Given the description of an element on the screen output the (x, y) to click on. 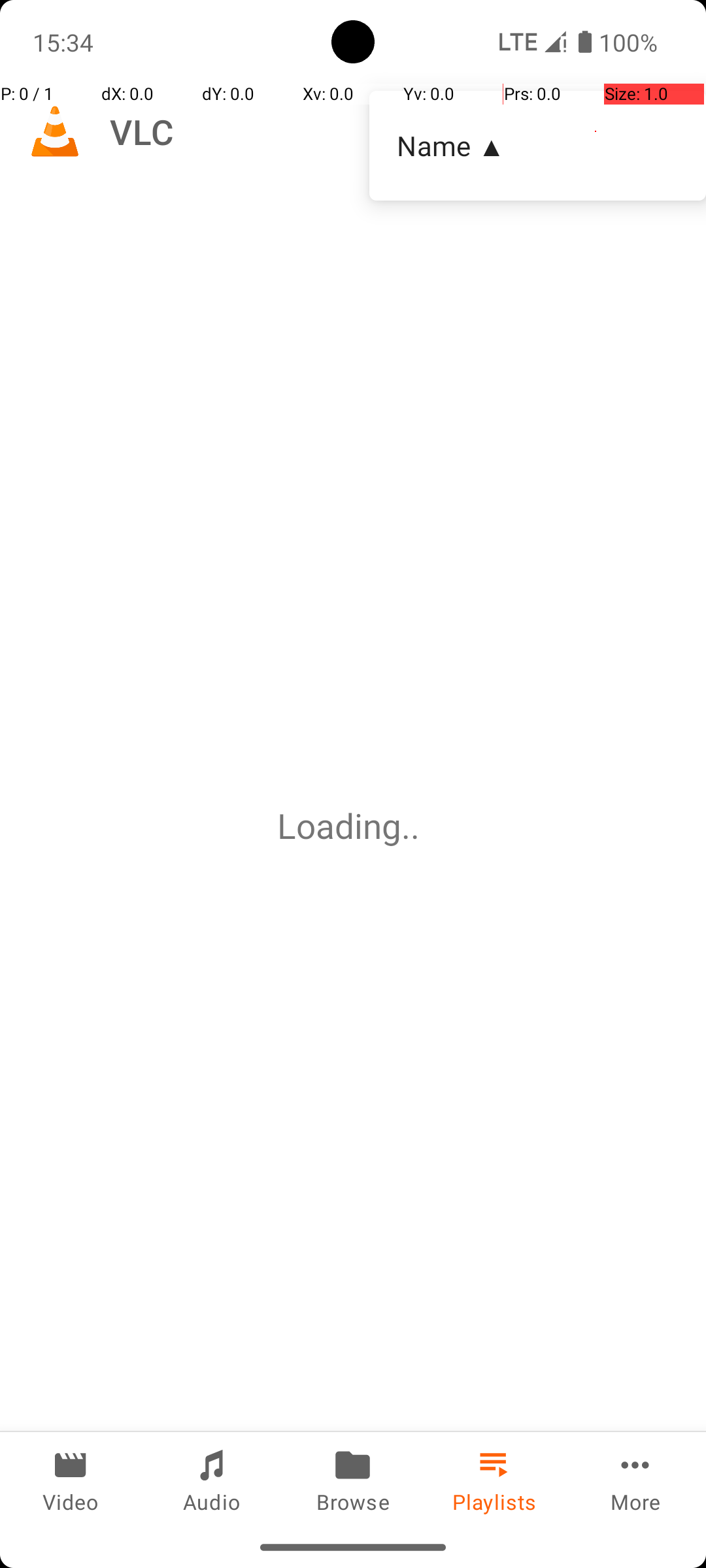
Name. Ascending Element type: android.widget.LinearLayout (537, 145)
Name ▲ Element type: android.widget.TextView (537, 145)
